Given the description of an element on the screen output the (x, y) to click on. 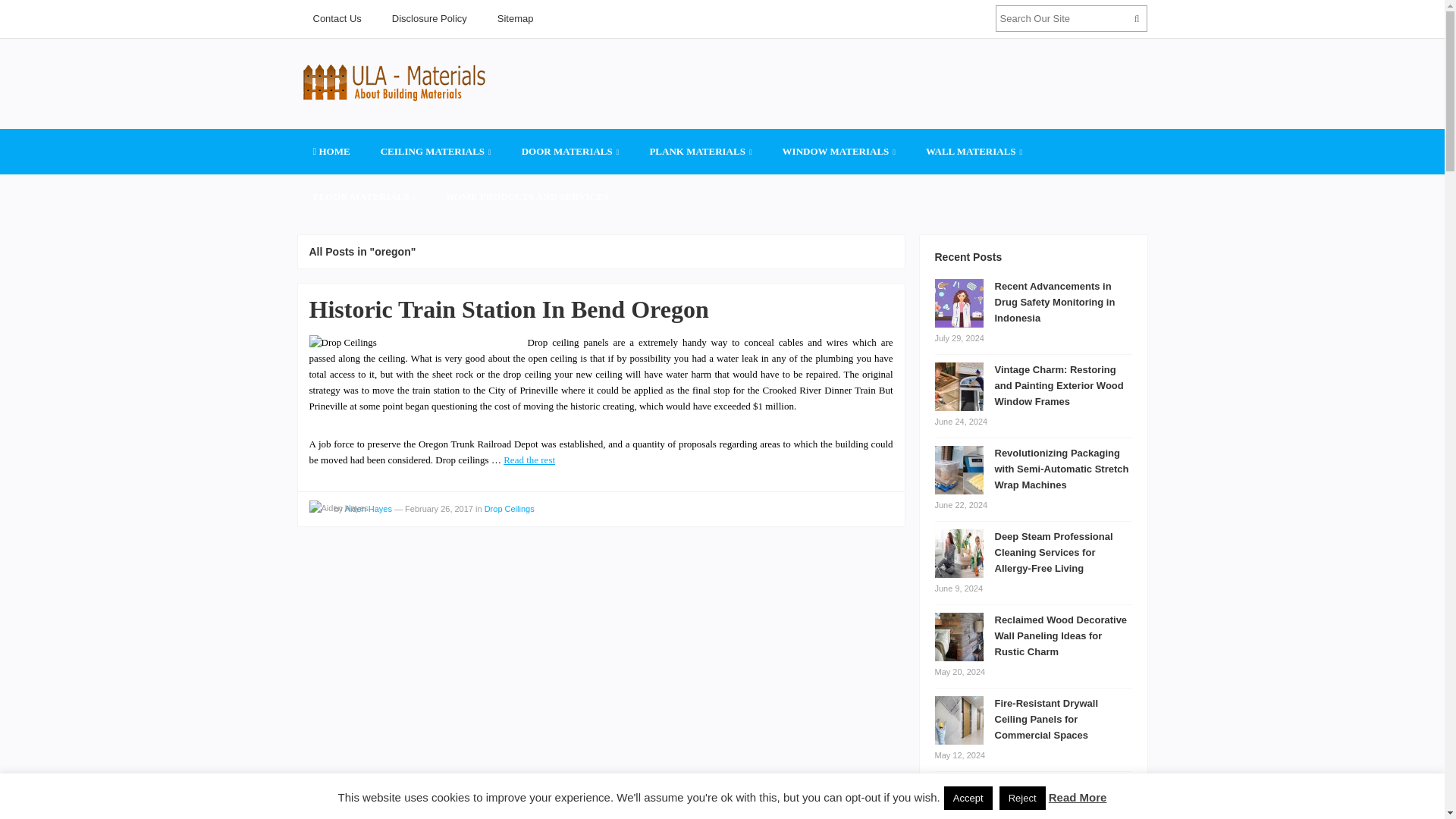
Disclosure Policy (429, 18)
Contact Us (336, 18)
Sitemap (514, 18)
